Given the description of an element on the screen output the (x, y) to click on. 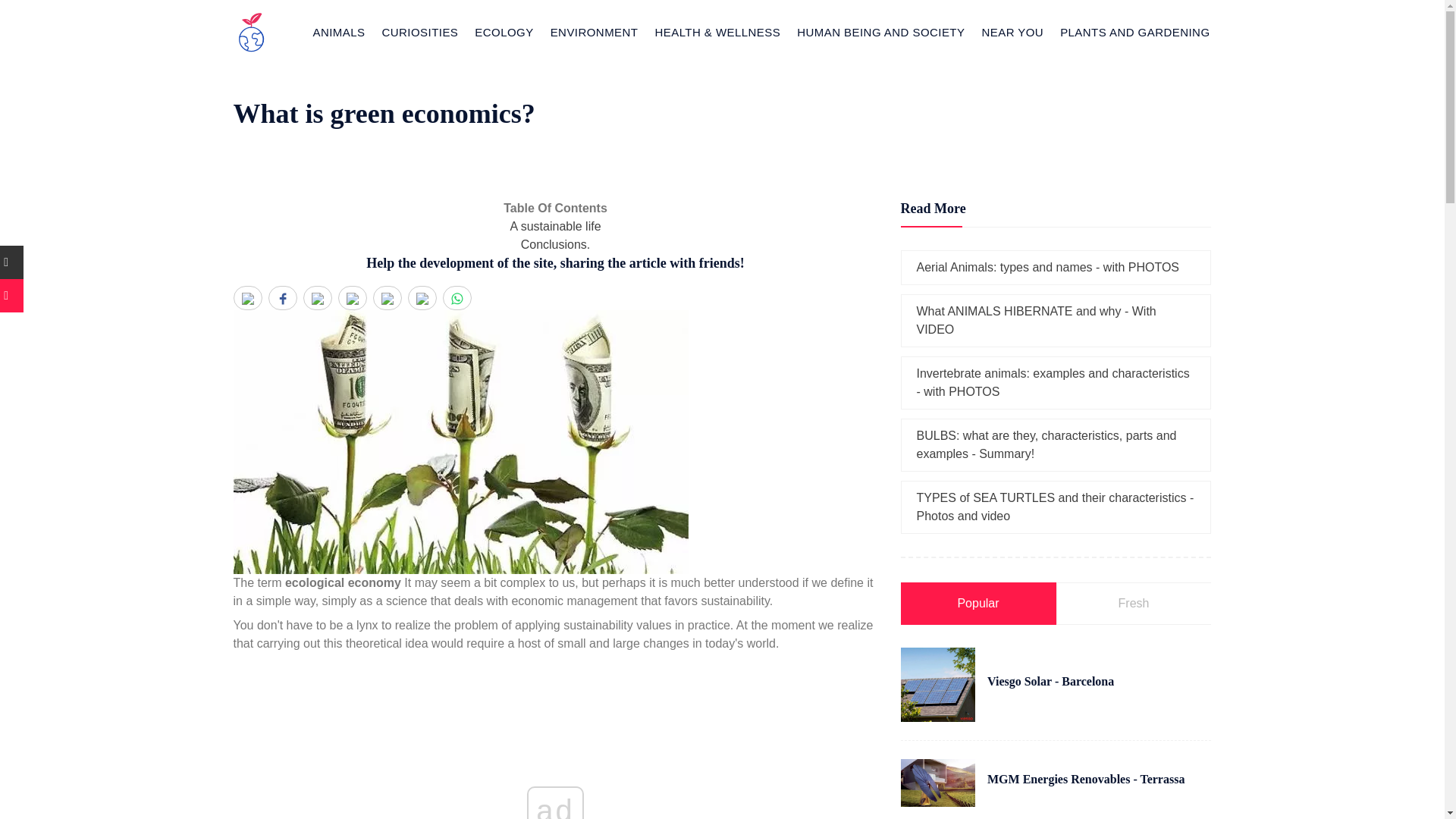
Aerial Animals: types and names - with PHOTOS (1047, 267)
What ANIMALS HIBERNATE and why - With VIDEO (1035, 319)
Popular (979, 603)
Plants and gardening 2024 (1134, 31)
Fresh (1133, 603)
NEAR YOU (1011, 31)
CURIOSITIES (420, 31)
Ecology 2024 (503, 31)
Environment 2024 (594, 31)
Curiosities 2024 (420, 31)
Conclusions. (556, 244)
ENVIRONMENT (594, 31)
PLANTS AND GARDENING (1134, 31)
